Given the description of an element on the screen output the (x, y) to click on. 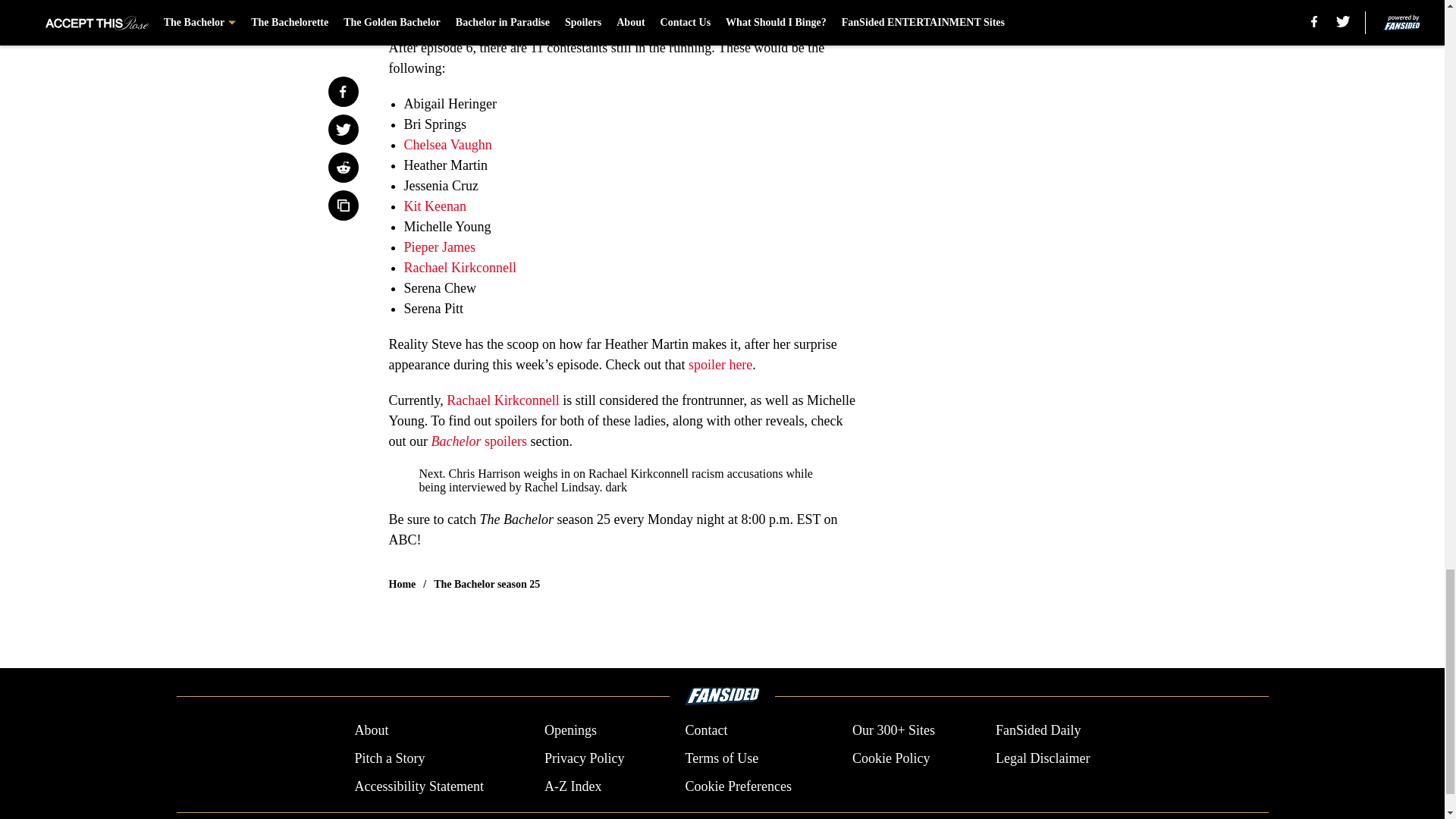
Openings (570, 730)
About (370, 730)
spoiler here (720, 364)
The Bachelor season 25 (486, 584)
Rachael Kirkconnell (459, 267)
Pitch a Story (389, 758)
Home (401, 584)
Pieper James (438, 246)
Chelsea Vaughn (447, 144)
Contact (705, 730)
